Given the description of an element on the screen output the (x, y) to click on. 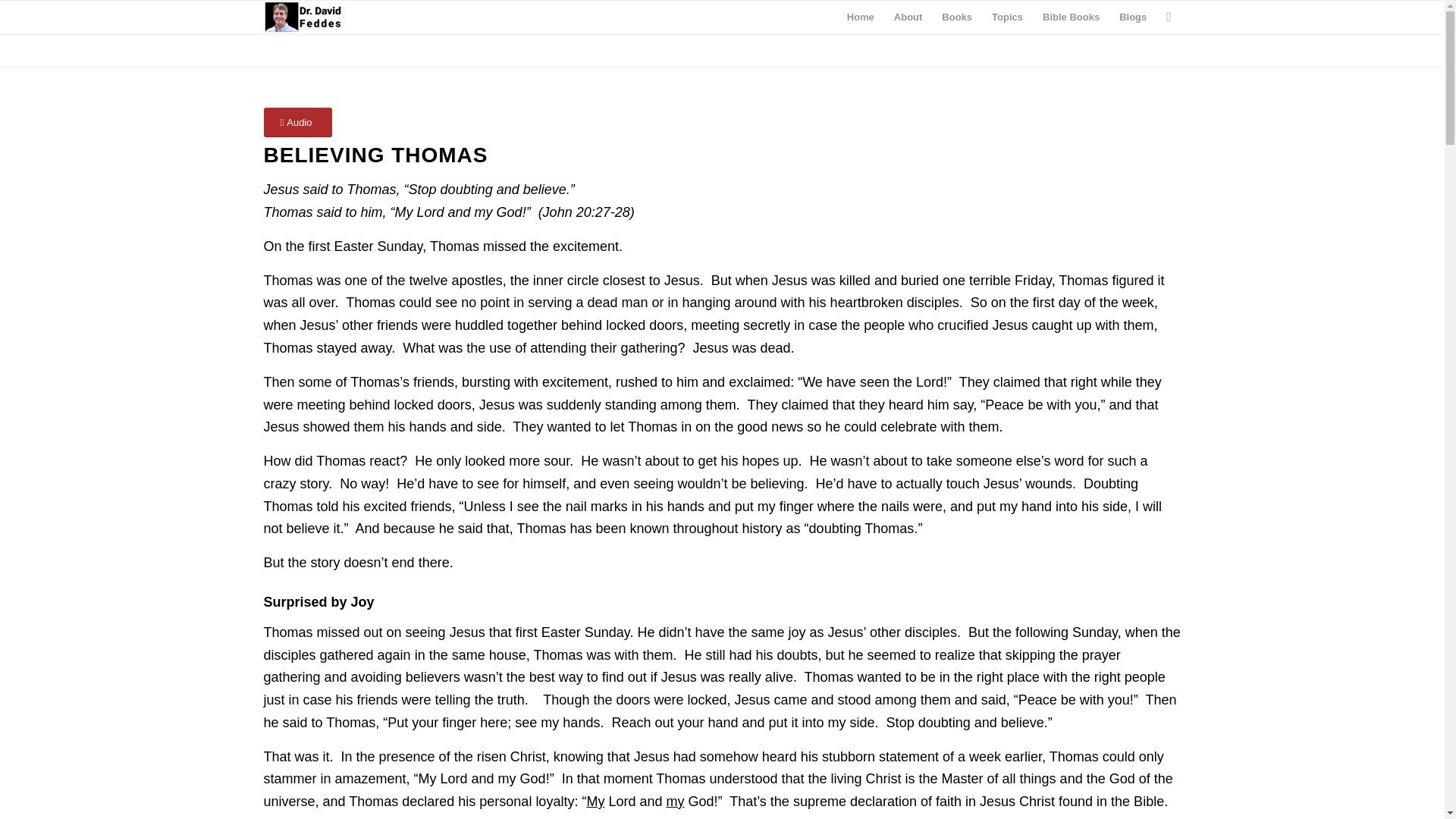
Books (956, 17)
Blogs (1132, 17)
Audio (297, 122)
Topics (1006, 17)
Bible Books (1070, 17)
About (908, 17)
Home (860, 17)
